Given the description of an element on the screen output the (x, y) to click on. 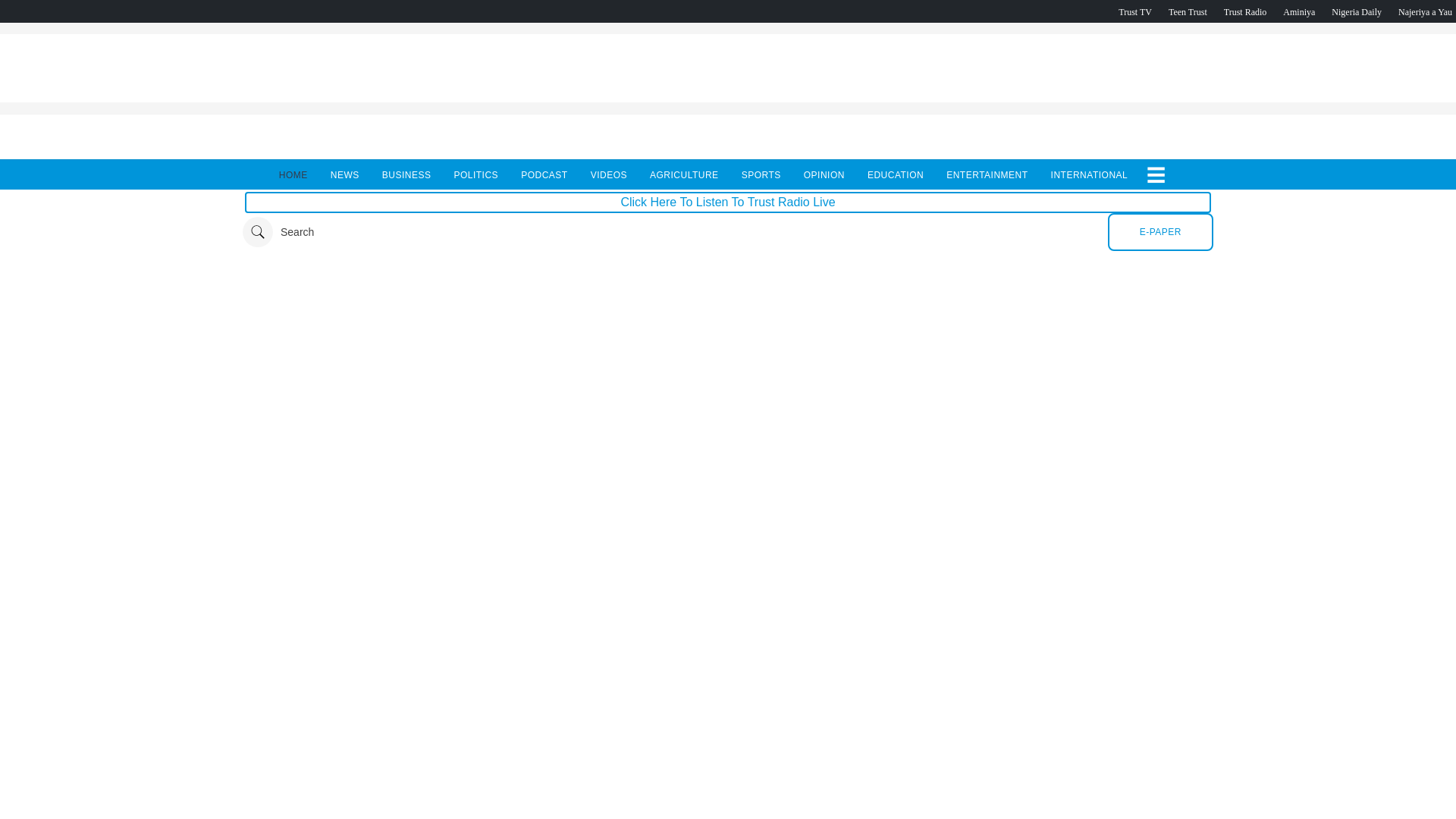
Najeriya a Yau (1424, 11)
Trust TV Live (1134, 11)
Aminiya (1298, 11)
Nigeria Daily (1356, 11)
Teen Trust (1188, 11)
Saurari Shirye Shiryenmu (1424, 11)
Podcast (1356, 11)
HOME (293, 174)
Search (278, 232)
Dailytrust (727, 231)
